Given the description of an element on the screen output the (x, y) to click on. 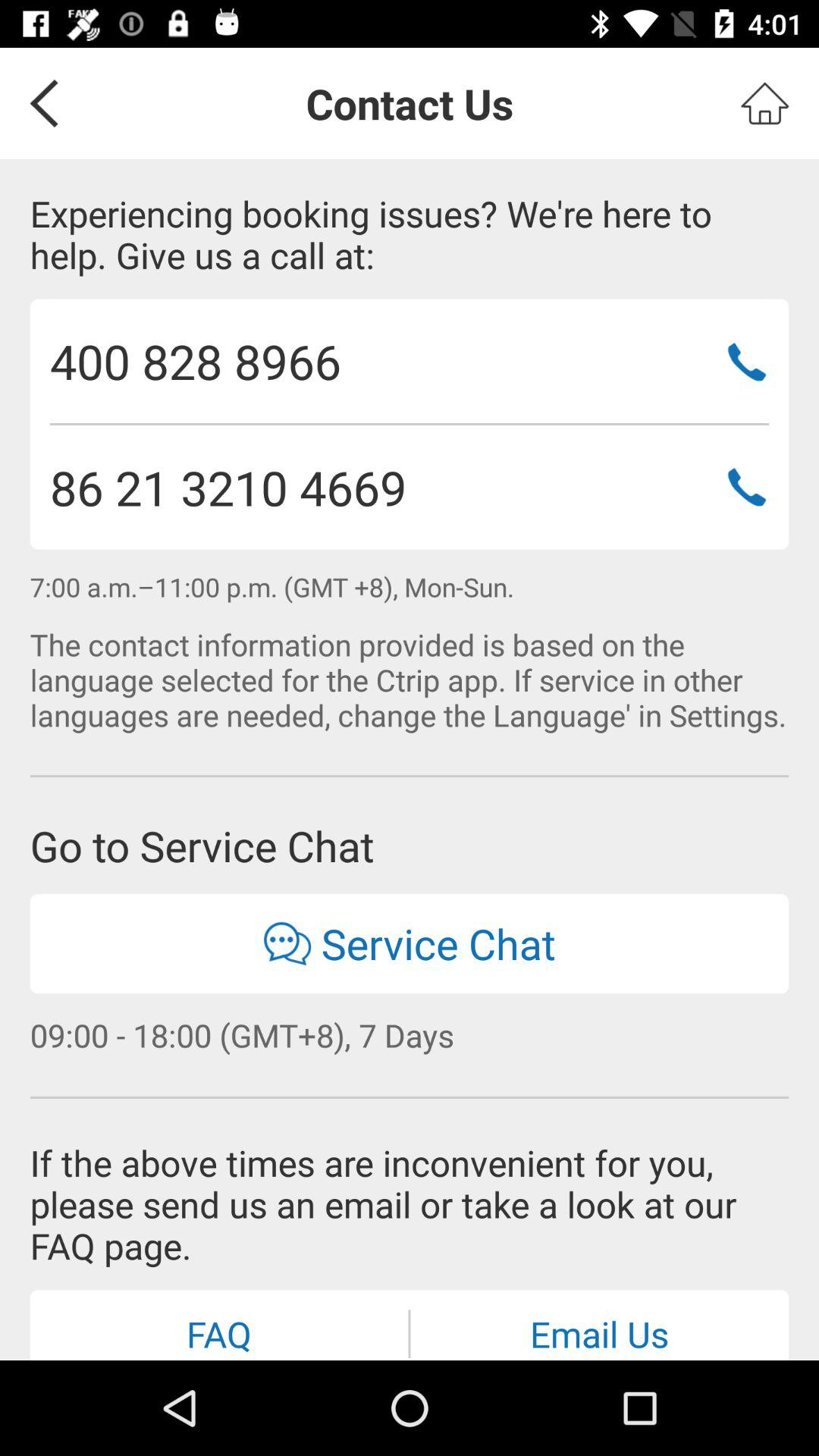
go home (764, 103)
